Given the description of an element on the screen output the (x, y) to click on. 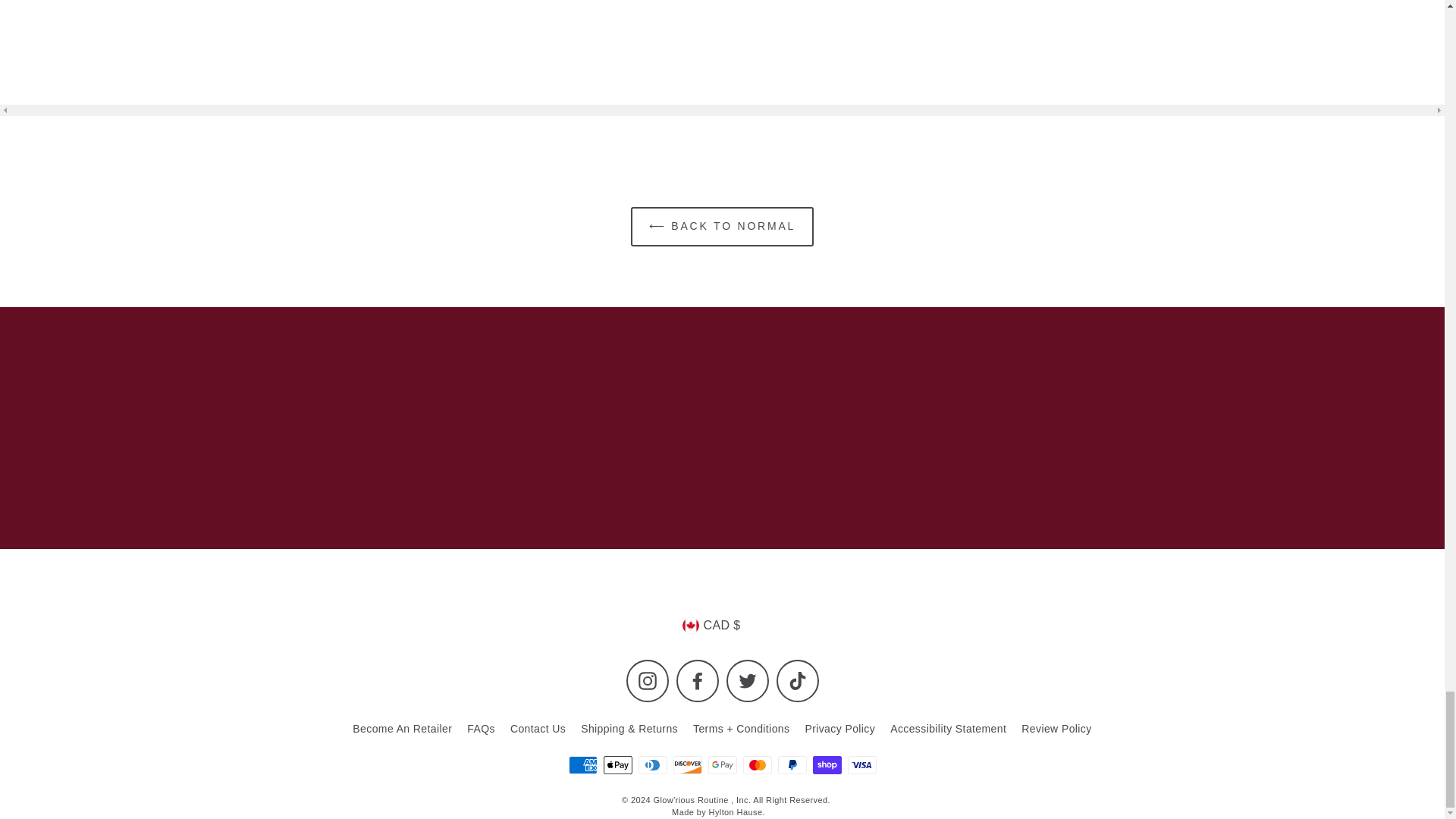
Glow'rious Routine on Instagram (647, 680)
Glow'rious Routine on TikTok (797, 680)
Diners Club (652, 764)
Glow'rious Routine on Facebook (698, 680)
Discover (686, 764)
Apple Pay (617, 764)
Glow'rious Routine on Twitter (747, 680)
American Express (582, 764)
Google Pay (721, 764)
Mastercard (756, 764)
